Given the description of an element on the screen output the (x, y) to click on. 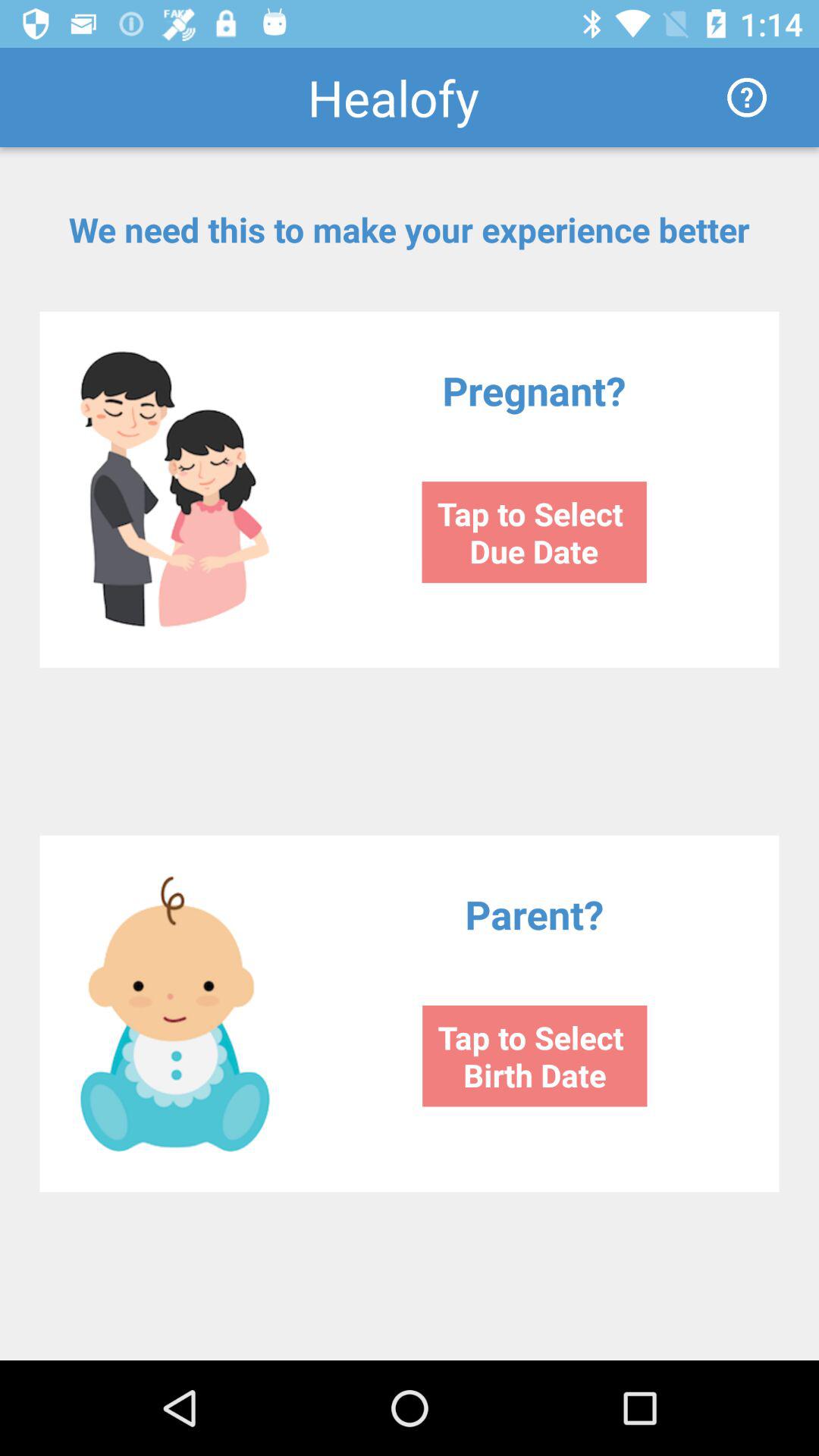
open help page (746, 97)
